Given the description of an element on the screen output the (x, y) to click on. 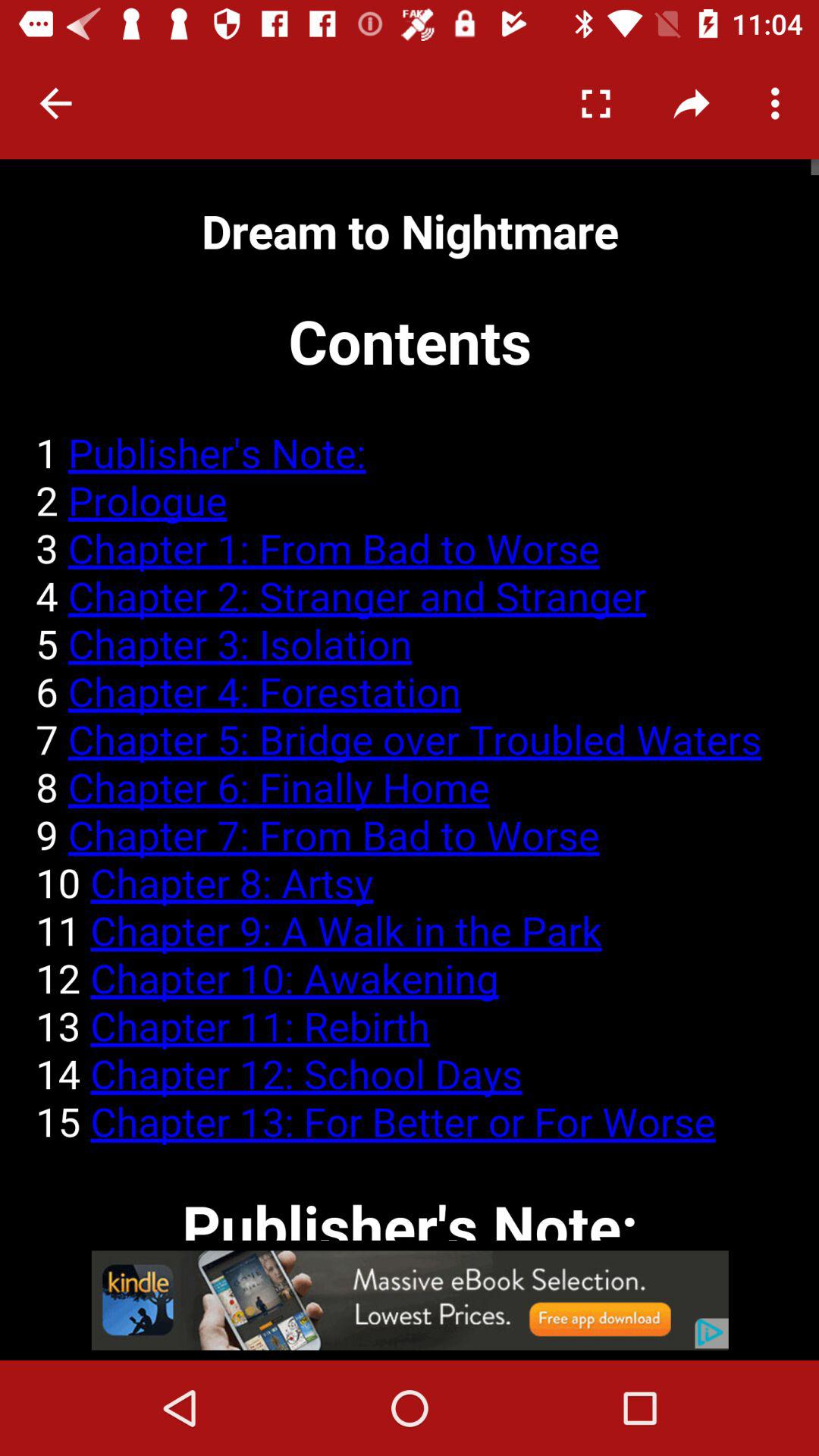
advertisement page (409, 1300)
